Given the description of an element on the screen output the (x, y) to click on. 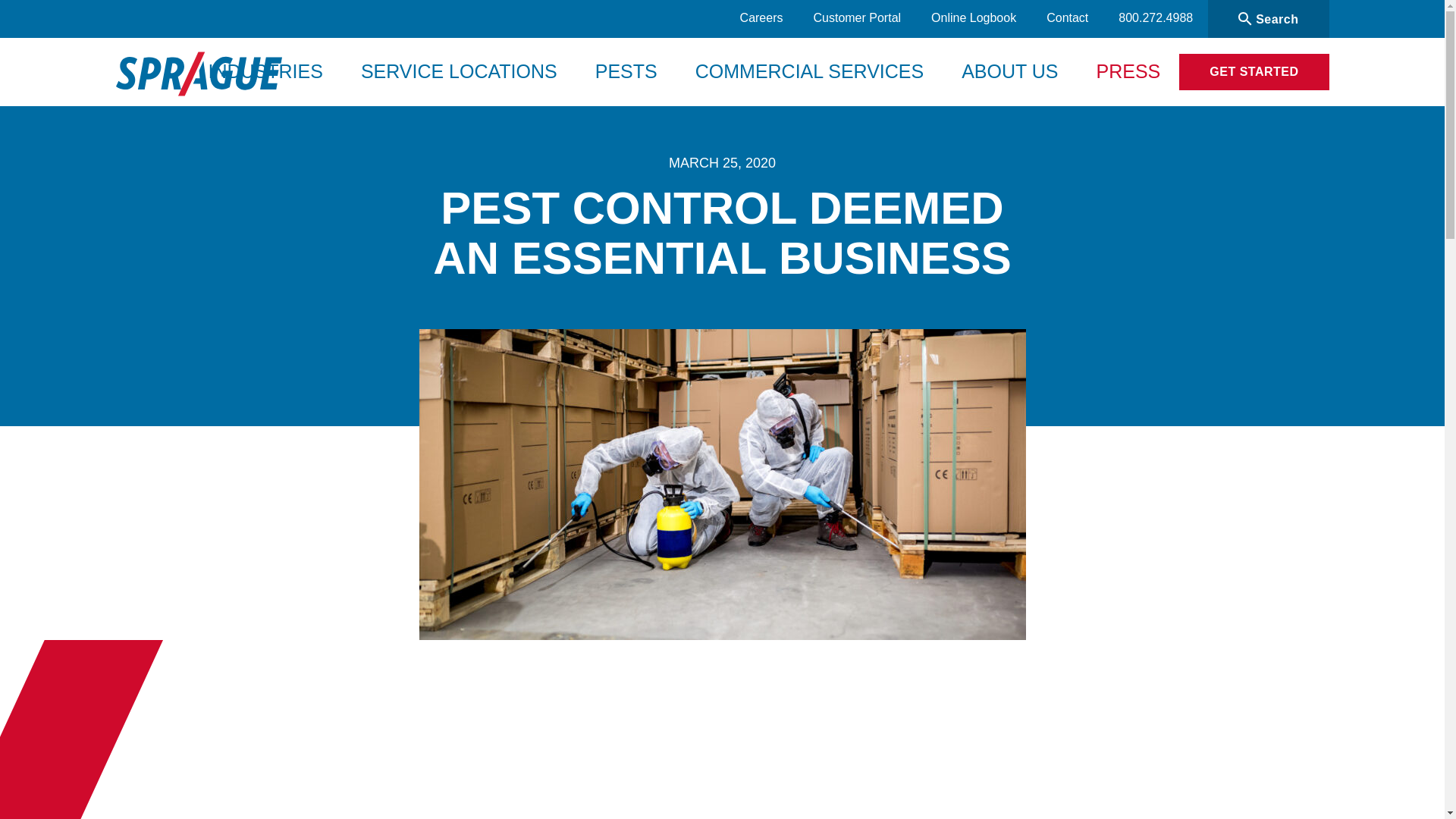
COMMERCIAL SERVICES (809, 71)
INDUSTRIES (264, 71)
Sprague Pest Solutions (198, 77)
Search Icon Created With Sketchtool. (1245, 18)
ABOUT US (1009, 71)
PESTS (625, 71)
SERVICE LOCATIONS (459, 71)
